Given the description of an element on the screen output the (x, y) to click on. 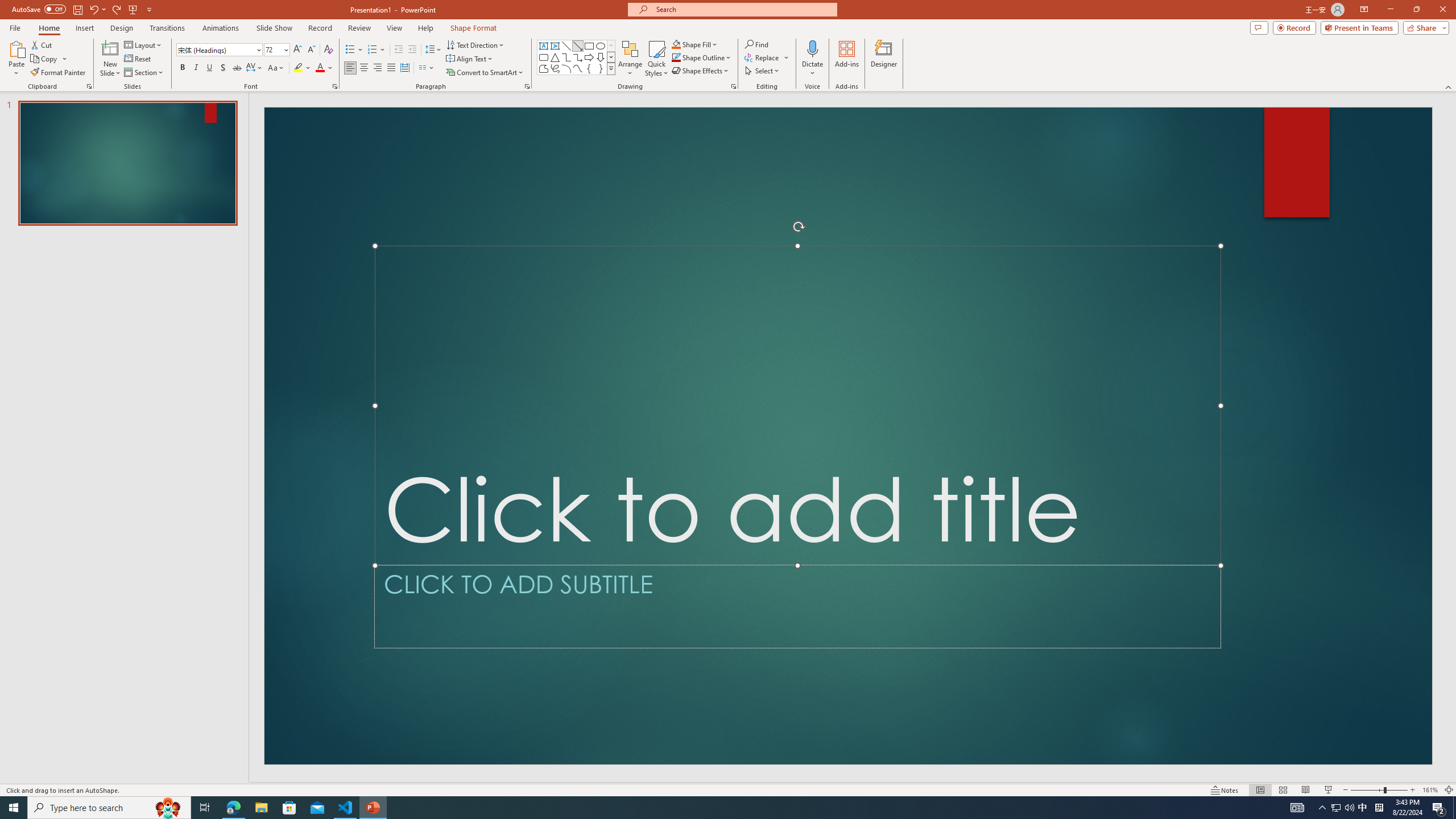
Rectangle (589, 45)
Arrow: Down (600, 57)
Find... (756, 44)
Isosceles Triangle (554, 57)
Increase Indent (412, 49)
Row up (611, 45)
Dictate (812, 58)
Arc (566, 68)
Columns (426, 67)
Select (762, 69)
Vertical Text Box (554, 45)
Align Left (349, 67)
